Given the description of an element on the screen output the (x, y) to click on. 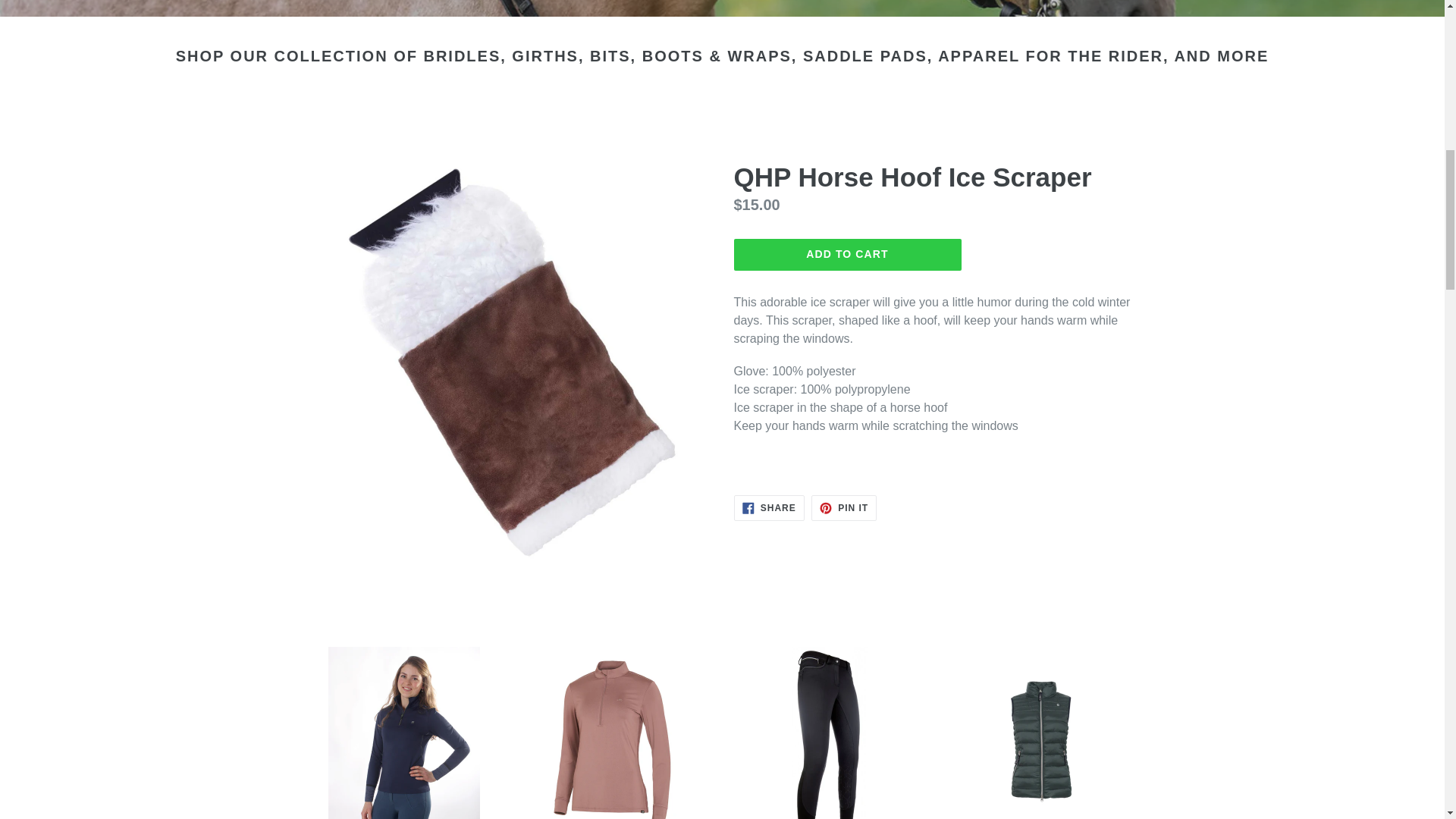
Share on Facebook (769, 507)
Pin on Pinterest (843, 507)
